Given the description of an element on the screen output the (x, y) to click on. 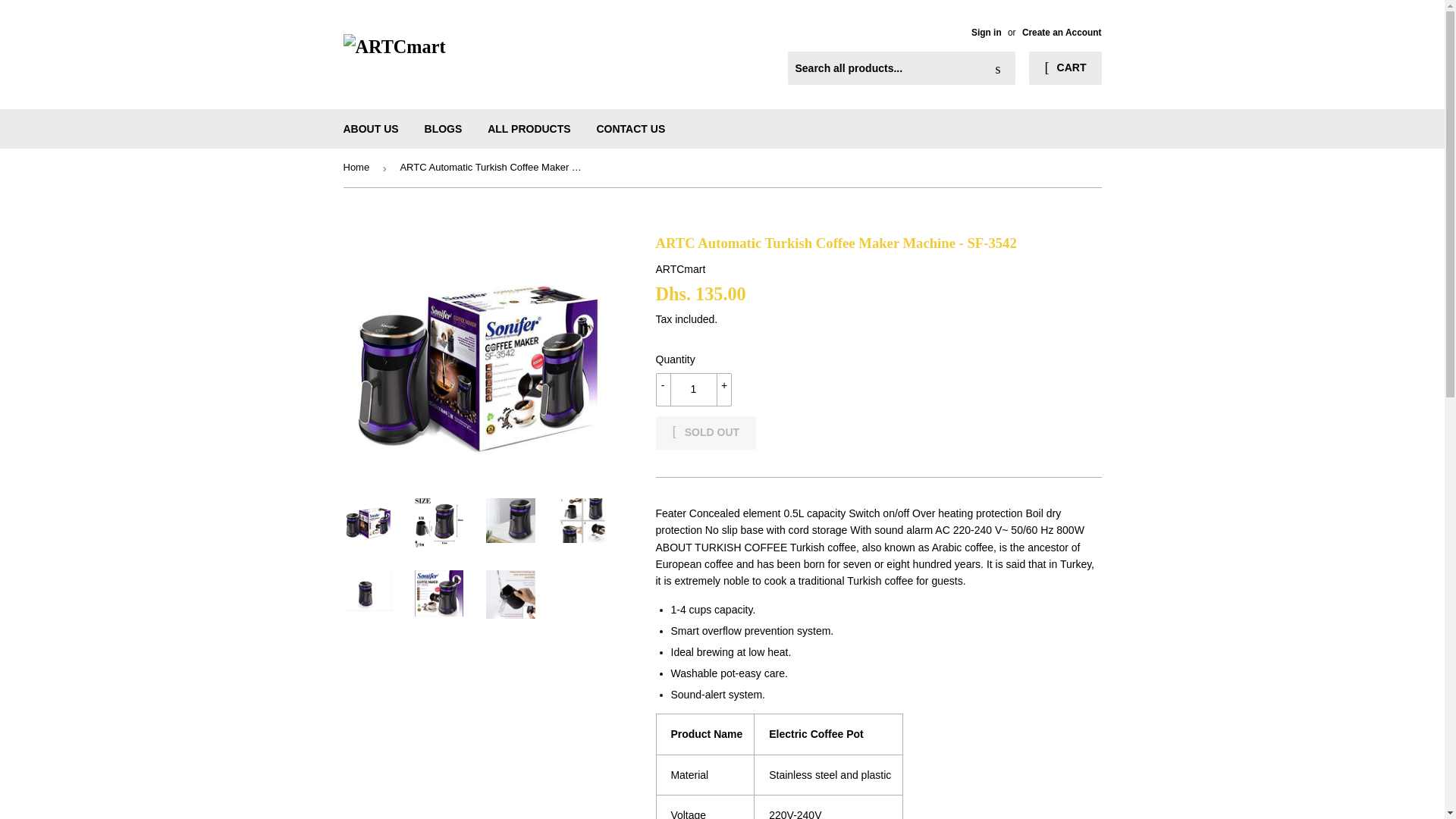
CONTACT US (631, 128)
Sign in (986, 32)
Search (997, 69)
SOLD OUT (705, 432)
CART (1064, 68)
ABOUT US (370, 128)
BLOGS (443, 128)
Create an Account (1062, 32)
ALL PRODUCTS (528, 128)
1 (692, 389)
